Given the description of an element on the screen output the (x, y) to click on. 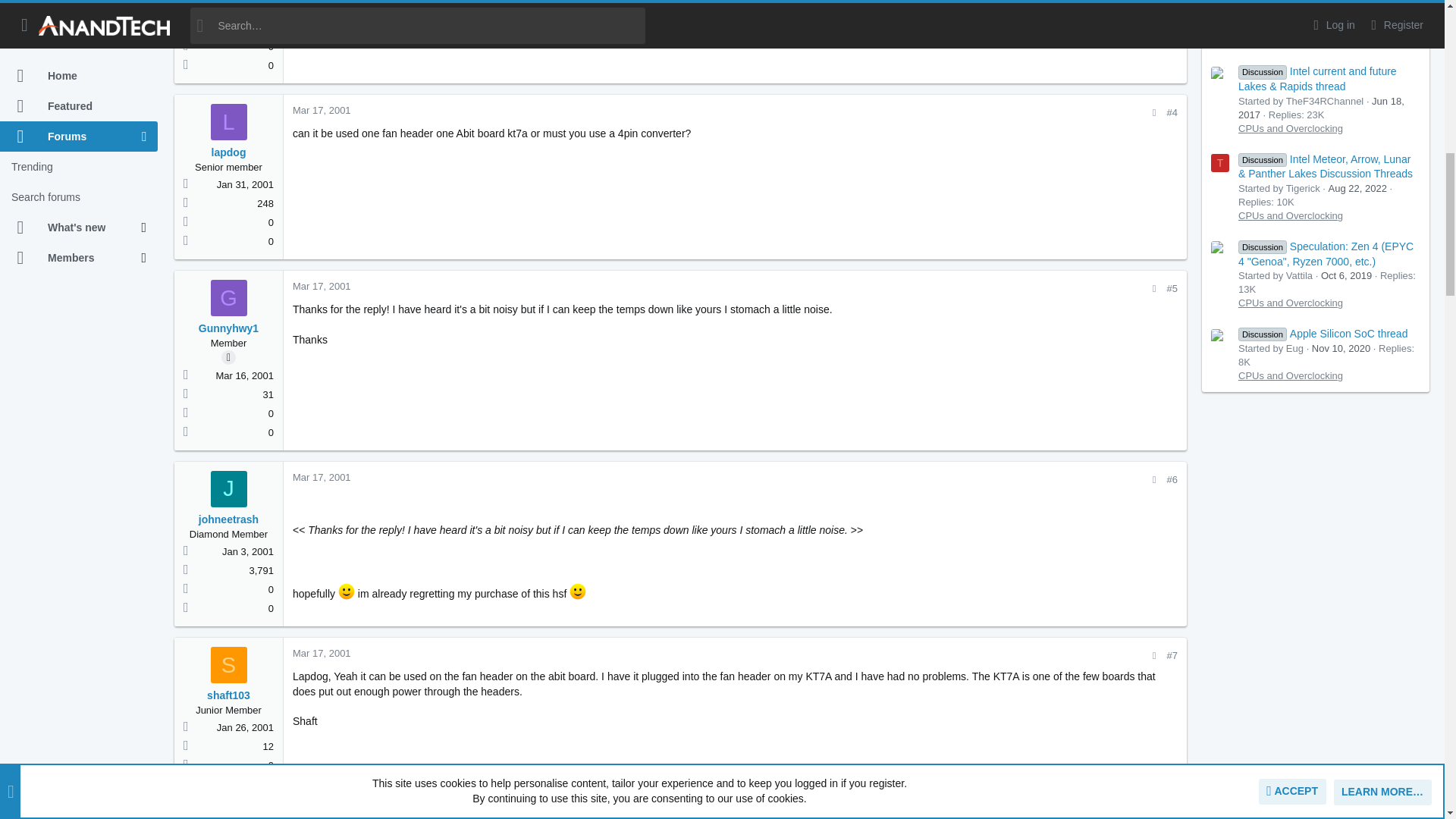
Mar 17, 2001 at 10:37 PM (321, 285)
Mar 17, 2001 at 11:02 PM (321, 653)
Mar 17, 2001 at 10:55 PM (321, 477)
Mar 17, 2001 at 10:18 PM (321, 110)
